Given the description of an element on the screen output the (x, y) to click on. 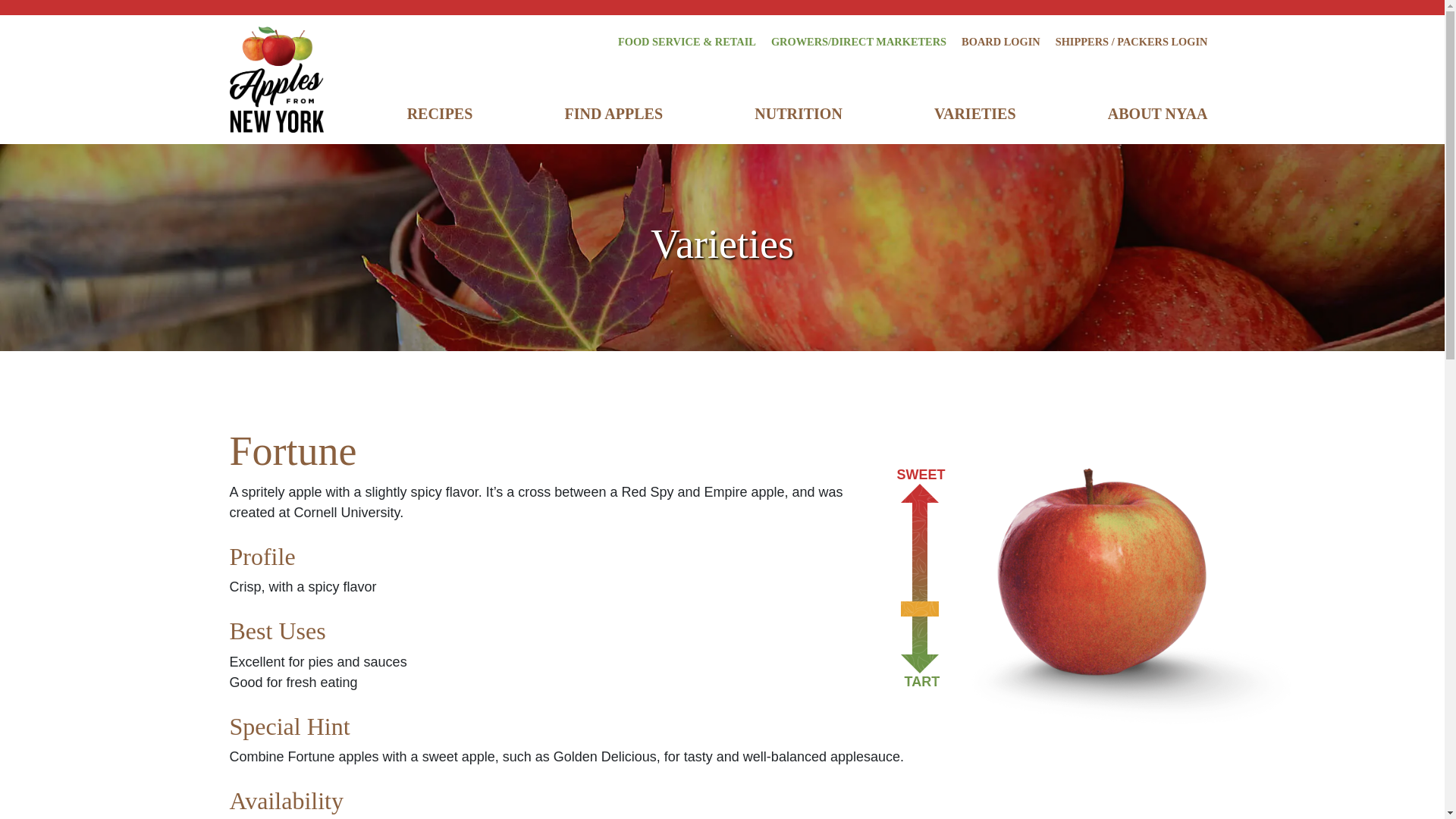
BOARD LOGIN (1000, 42)
RECIPES (439, 113)
FIND APPLES (613, 113)
